Given the description of an element on the screen output the (x, y) to click on. 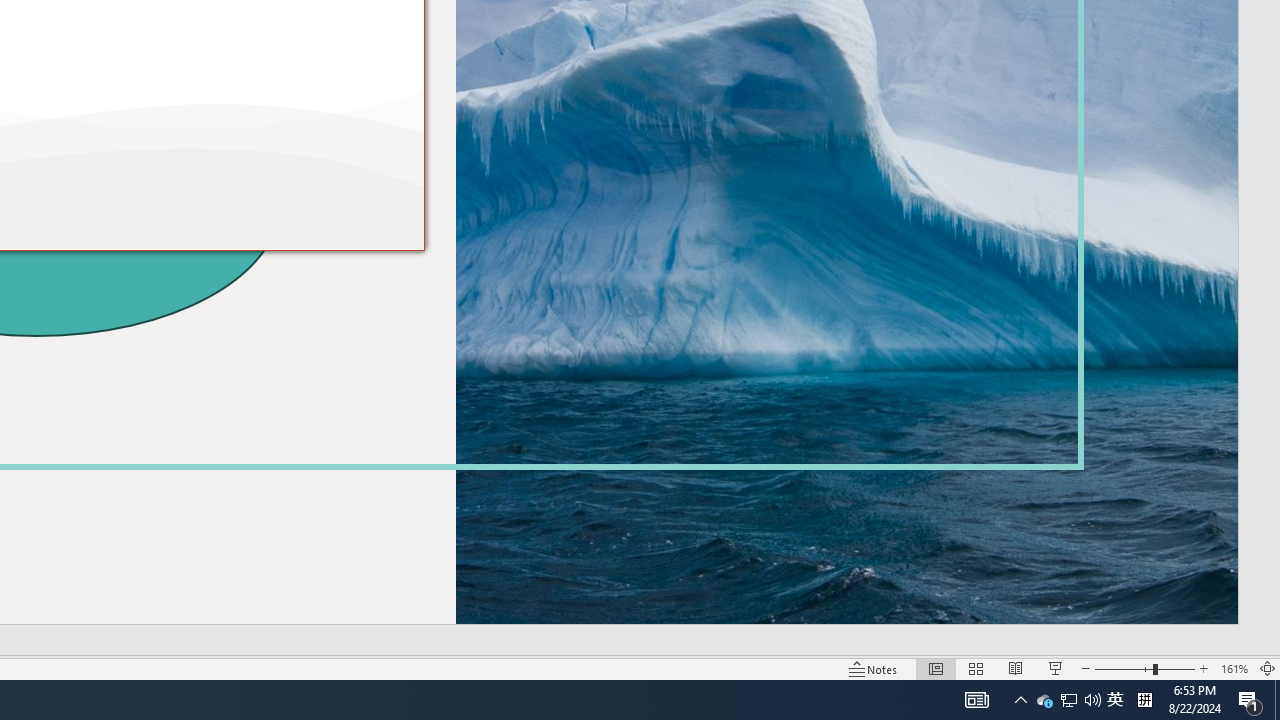
Action Center, 1 new notification (1250, 699)
